Given the description of an element on the screen output the (x, y) to click on. 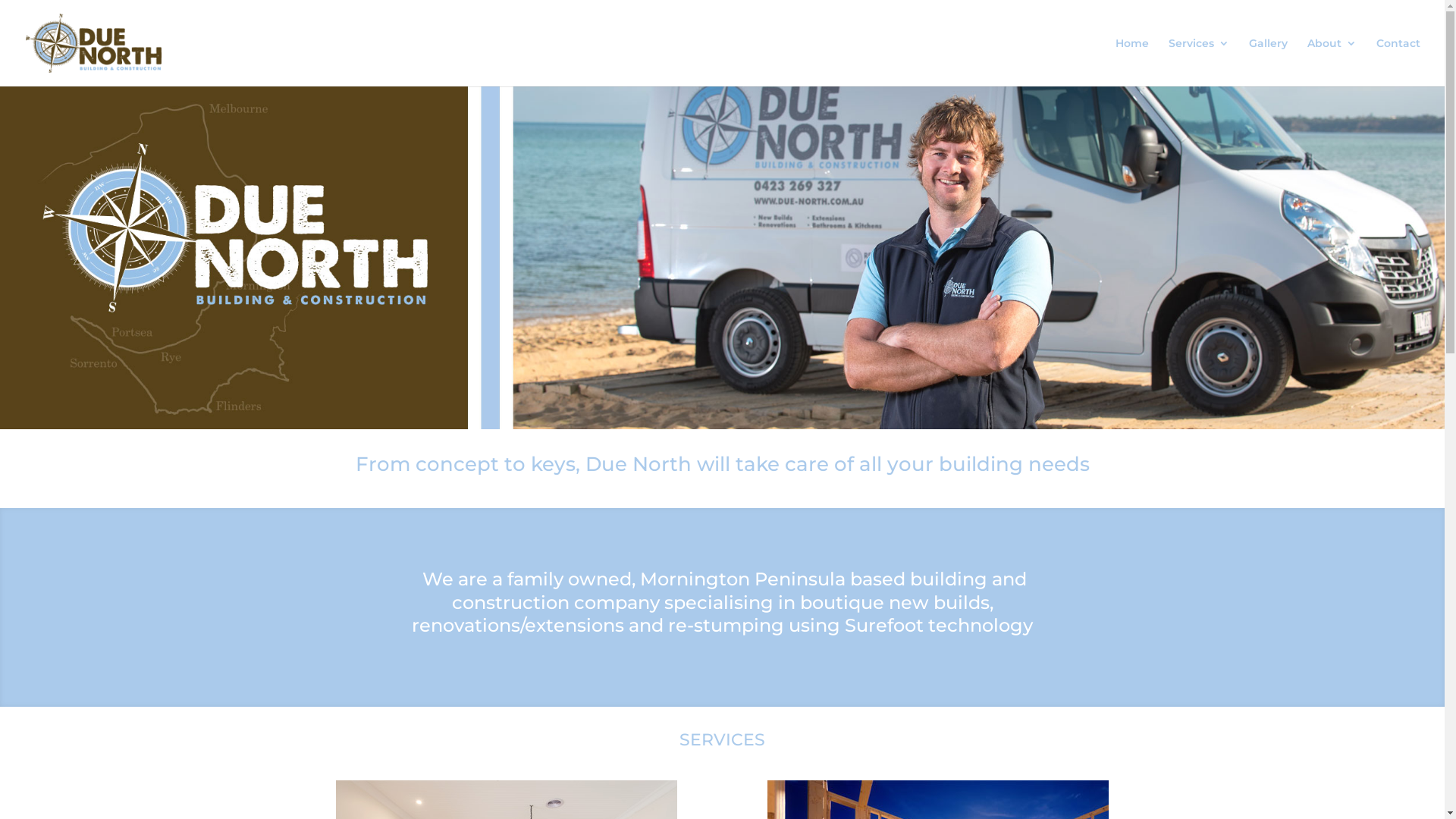
Contact Element type: text (1398, 61)
Home Element type: text (1131, 61)
Gallery Element type: text (1267, 61)
Services Element type: text (1198, 61)
About Element type: text (1331, 61)
